Given the description of an element on the screen output the (x, y) to click on. 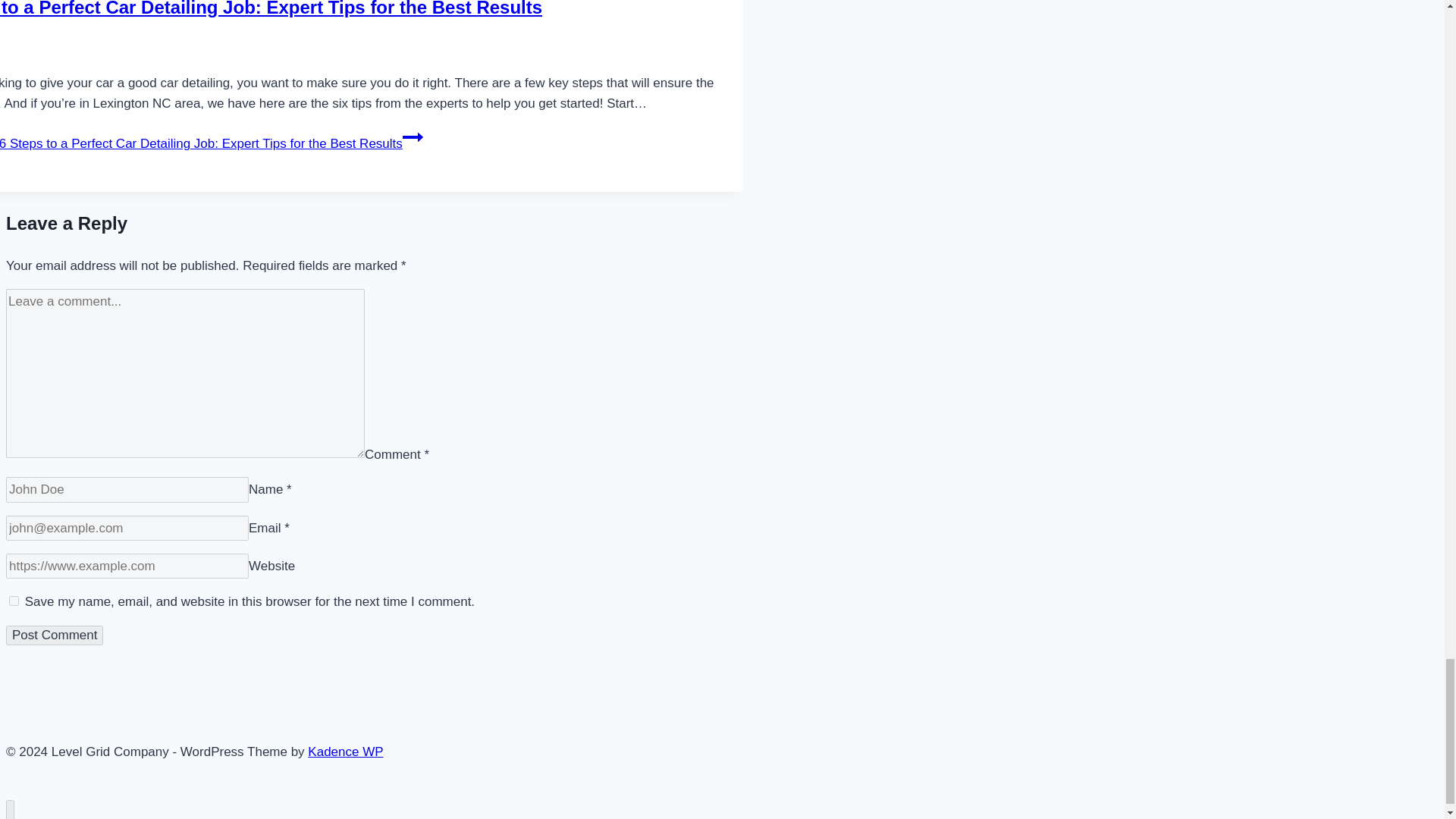
yes (13, 601)
Post Comment (54, 635)
Kadence WP (344, 751)
Post Comment (54, 635)
Continue (413, 137)
